Given the description of an element on the screen output the (x, y) to click on. 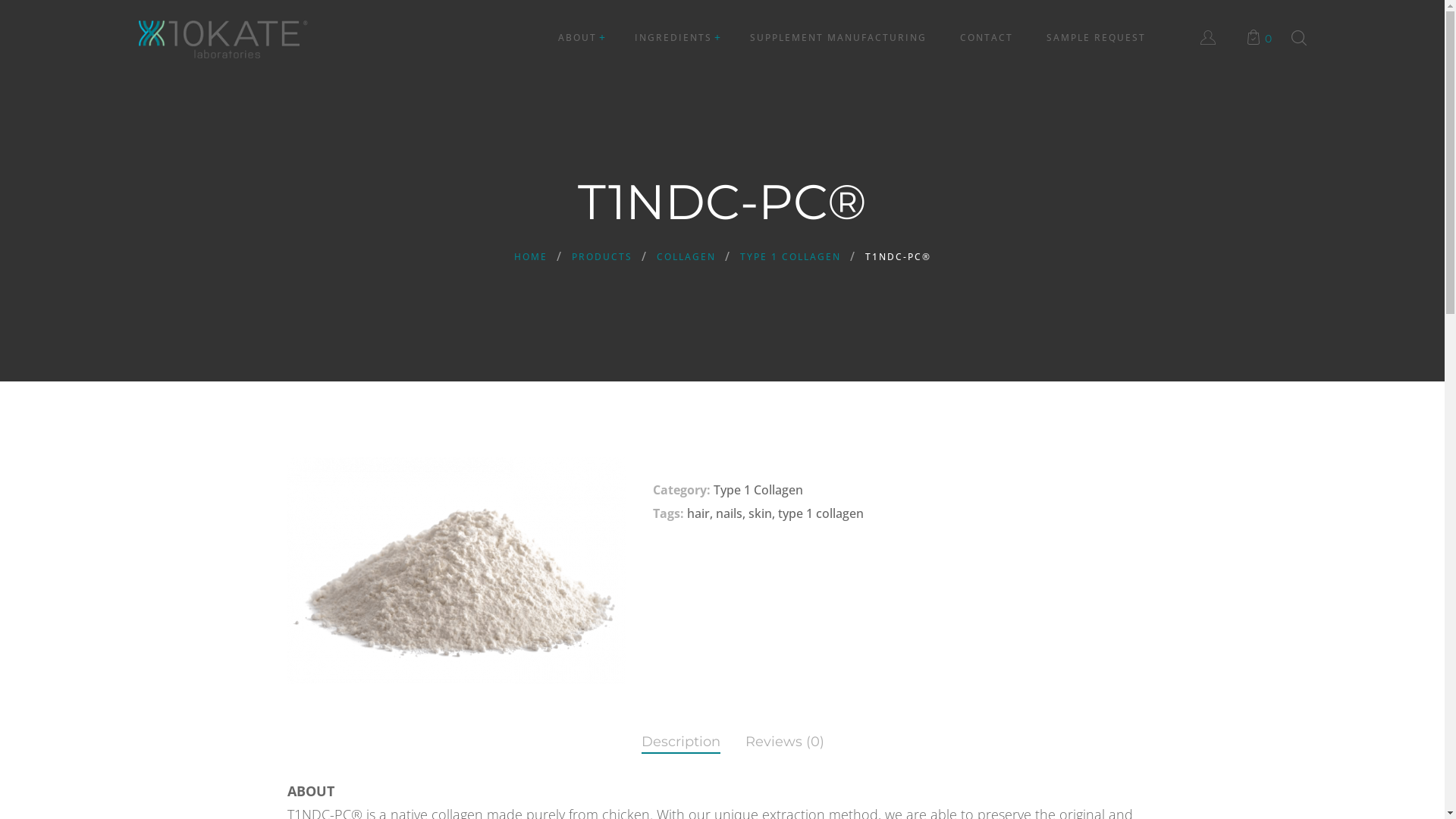
10KATE-collagen-powder-type2 Element type: hover (457, 570)
SUPPLEMENT MANUFACTURING Element type: text (837, 37)
Type 1 Collagen Element type: text (758, 489)
type 1 collagen Element type: text (820, 513)
0 Element type: text (1261, 36)
TYPE 1 COLLAGEN Element type: text (790, 256)
skin Element type: text (759, 513)
HOME Element type: text (530, 256)
hair Element type: text (698, 513)
Reviews (0) Element type: text (784, 738)
Description Element type: text (680, 738)
ABOUT Element type: text (577, 37)
INGREDIENTS Element type: text (672, 37)
nails Element type: text (728, 513)
PRODUCTS Element type: text (601, 256)
SAMPLE REQUEST Element type: text (1095, 37)
COLLAGEN Element type: text (685, 256)
CONTACT Element type: text (986, 37)
